Given the description of an element on the screen output the (x, y) to click on. 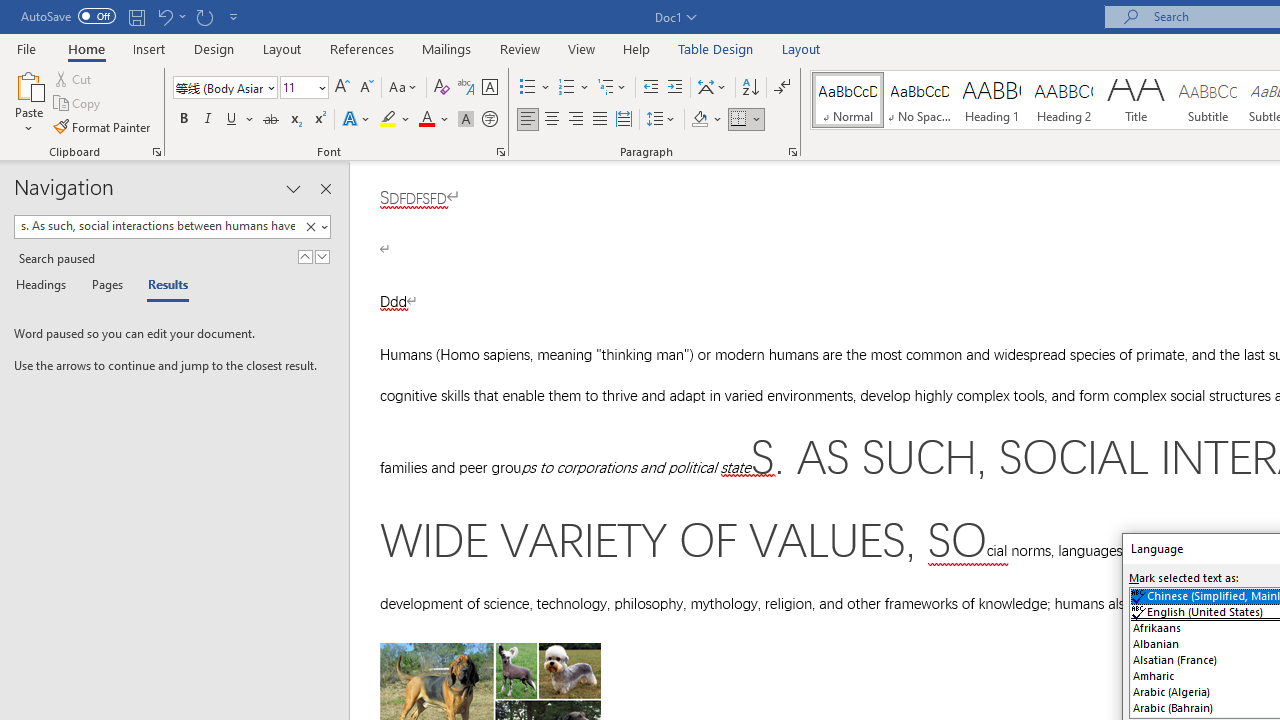
Next Result (322, 256)
Clear (314, 227)
Previous Result (304, 256)
